Given the description of an element on the screen output the (x, y) to click on. 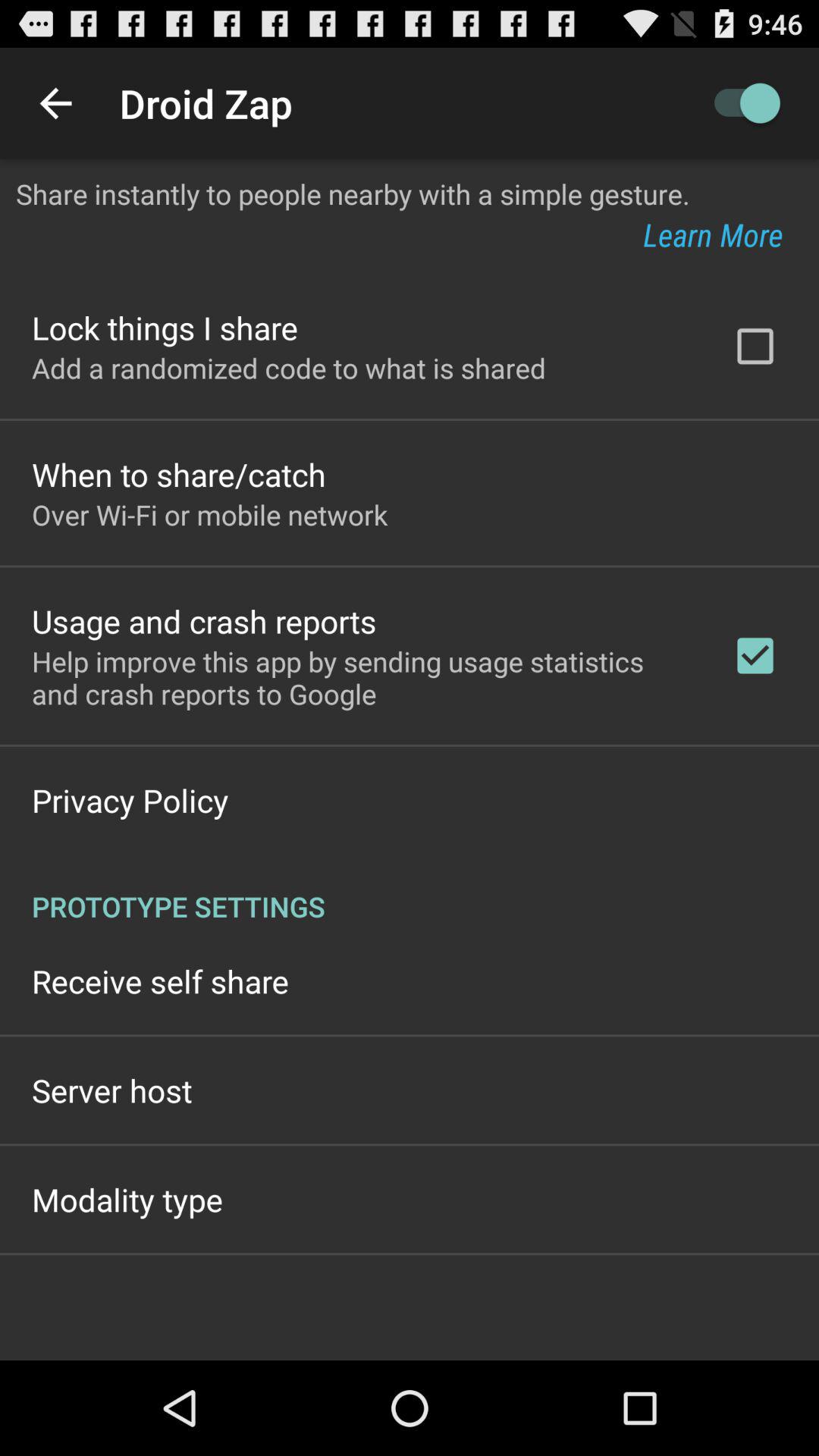
press the app above the share instantly to app (55, 103)
